Given the description of an element on the screen output the (x, y) to click on. 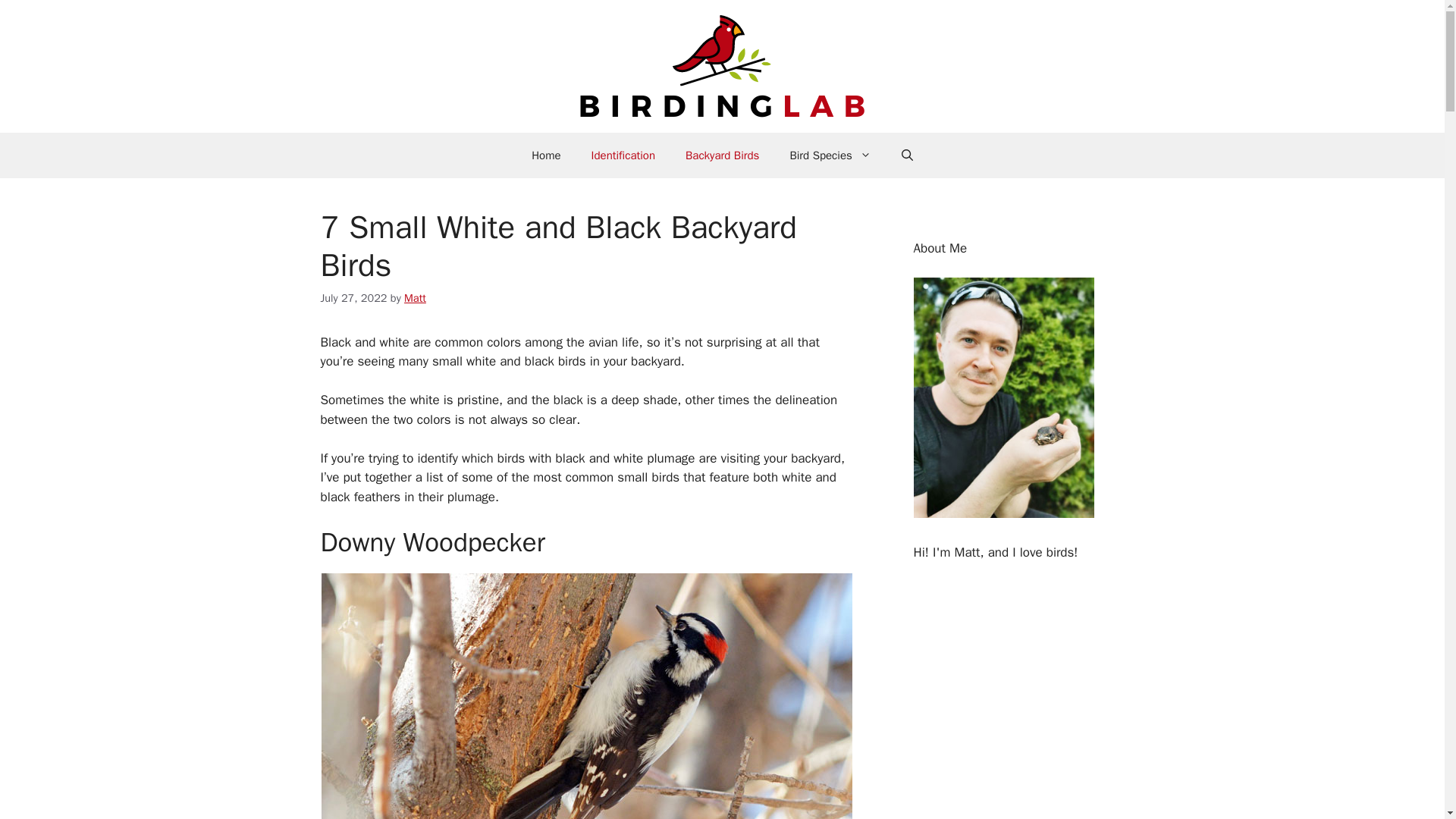
BirdingLab (721, 65)
BirdingLab (721, 66)
View all posts by Matt (415, 297)
Identification (622, 155)
Home (545, 155)
Backyard Birds (721, 155)
Matt (415, 297)
Bird Species (829, 155)
